Given the description of an element on the screen output the (x, y) to click on. 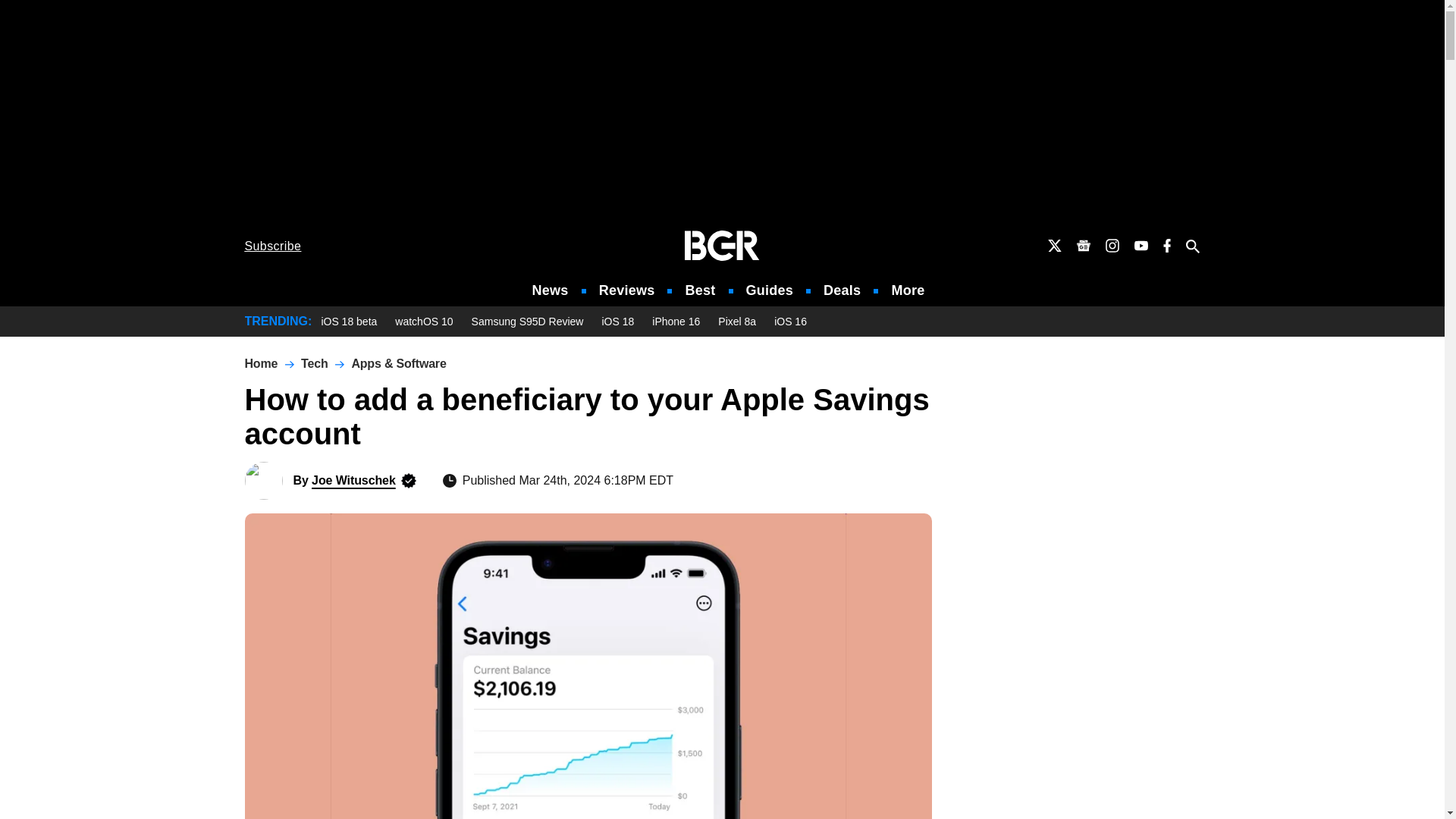
News (550, 290)
Best (699, 290)
More (907, 290)
Deals (842, 290)
Posts by Joe Wituschek (353, 480)
Subscribe (272, 245)
Guides (769, 290)
Reviews (626, 290)
